Given the description of an element on the screen output the (x, y) to click on. 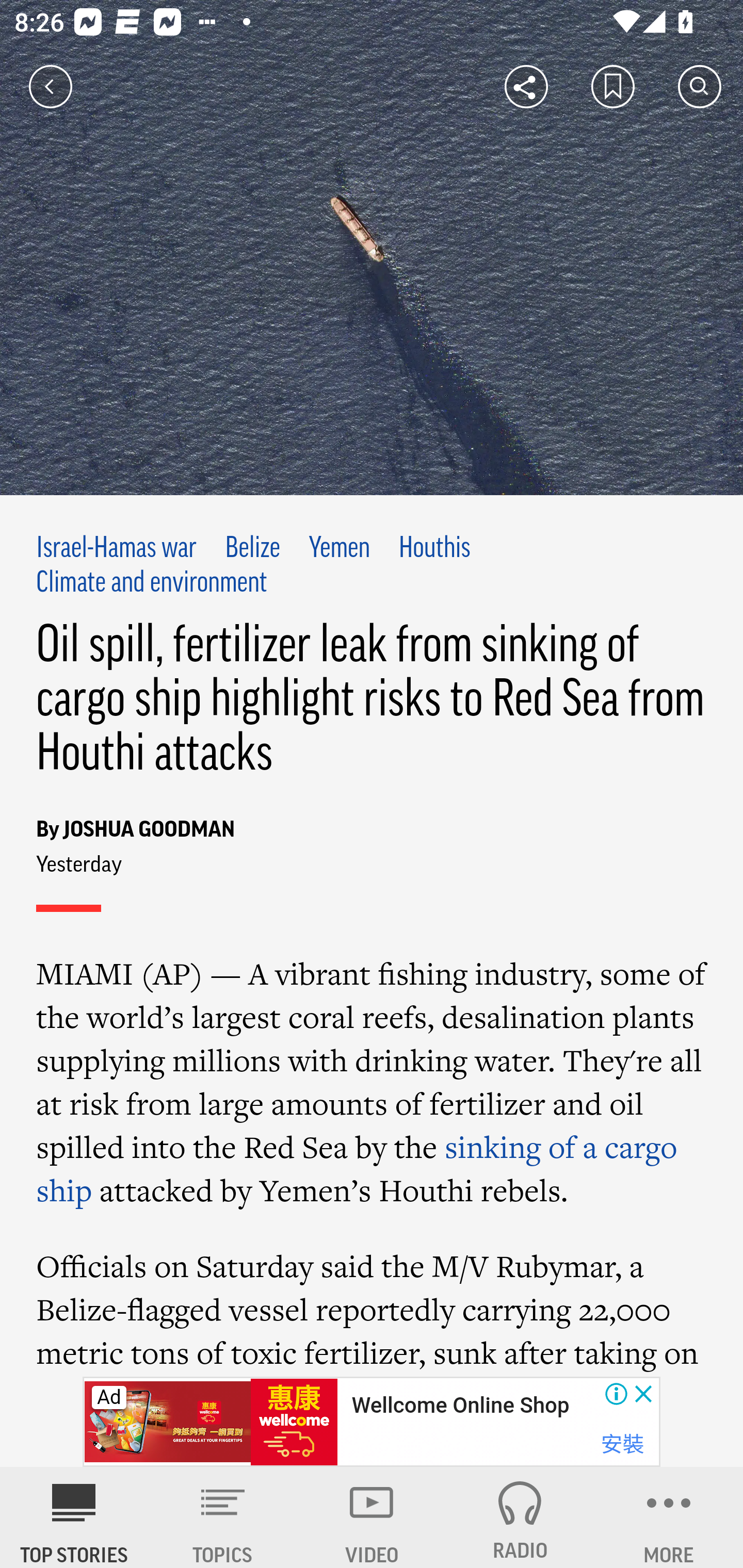
Israel-Hamas war (117, 549)
Belize (252, 549)
Yemen (339, 549)
Houthis (434, 549)
Climate and environment (151, 584)
sinking of a cargo ship (357, 1168)
Wellcome Online Shop (459, 1405)
安裝 (621, 1444)
AP News TOP STORIES (74, 1517)
TOPICS (222, 1517)
VIDEO (371, 1517)
RADIO (519, 1517)
MORE (668, 1517)
